Given the description of an element on the screen output the (x, y) to click on. 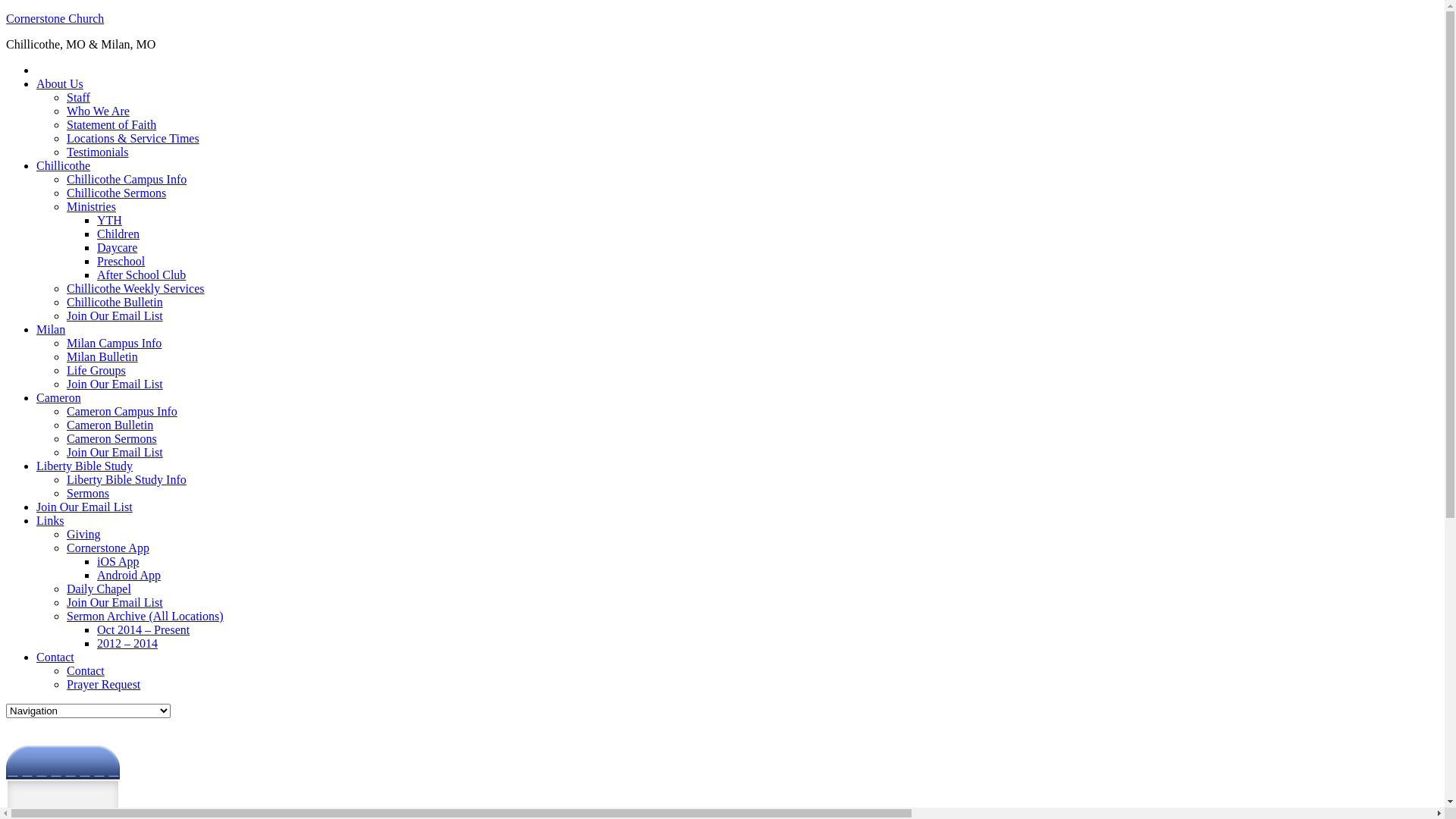
Liberty Bible Study Info Element type: text (126, 479)
Giving Element type: text (83, 533)
Locations & Service Times Element type: text (132, 137)
Contact Element type: text (55, 656)
Chillicothe Campus Info Element type: text (126, 178)
Links Element type: text (49, 520)
After School Club Element type: text (141, 274)
Chillicothe Weekly Services Element type: text (134, 288)
About Us Element type: text (59, 83)
Chillicothe Element type: text (63, 165)
Join Our Email List Element type: text (114, 602)
Statement of Faith Element type: text (111, 124)
Cameron Bulletin Element type: text (109, 424)
Life Groups Element type: text (95, 370)
Ministries Element type: text (91, 206)
Milan Bulletin Element type: text (102, 356)
Sermons Element type: text (87, 492)
Liberty Bible Study Element type: text (84, 465)
Cameron Campus Info Element type: text (121, 410)
Children Element type: text (118, 233)
Chillicothe Bulletin Element type: text (114, 301)
Sermon Archive (All Locations) Element type: text (144, 615)
Daycare Element type: text (117, 247)
iOS App Element type: text (118, 561)
Who We Are Element type: text (97, 110)
Contact Element type: text (85, 670)
Cornerstone Church Element type: text (54, 18)
Join Our Email List Element type: text (84, 506)
Milan Campus Info Element type: text (113, 342)
Testimonials Element type: text (97, 151)
Preschool Element type: text (120, 260)
Chillicothe Sermons Element type: text (116, 192)
Daily Chapel Element type: text (98, 588)
Cameron Sermons Element type: text (111, 438)
Staff Element type: text (78, 97)
Join Our Email List Element type: text (114, 315)
Android App Element type: text (128, 574)
Cornerstone App Element type: text (107, 547)
Join Our Email List Element type: text (114, 383)
Prayer Request Element type: text (103, 683)
Cameron Element type: text (58, 397)
Join Our Email List Element type: text (114, 451)
YTH Element type: text (109, 219)
Milan Element type: text (50, 329)
